Given the description of an element on the screen output the (x, y) to click on. 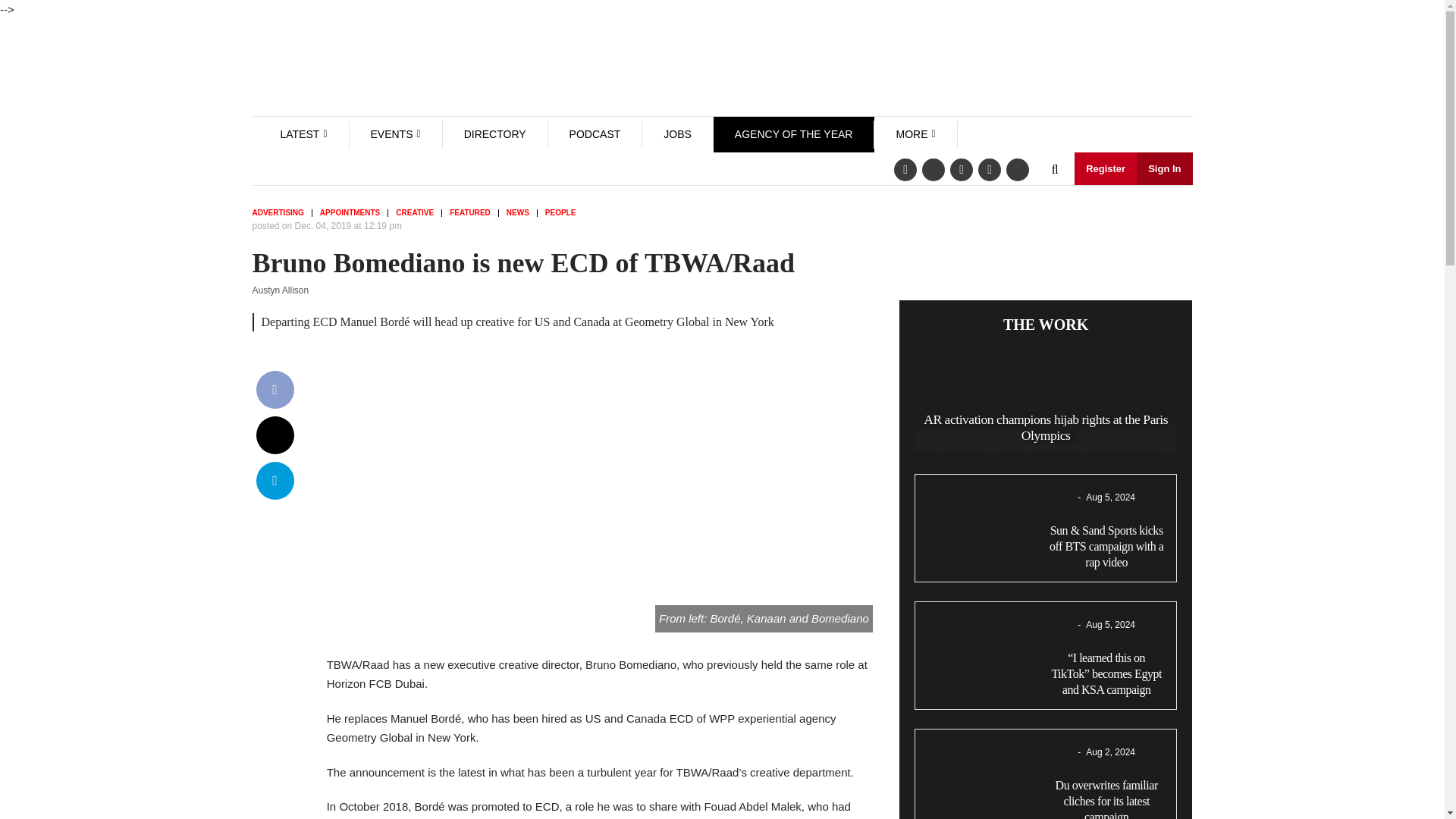
Advertising (281, 213)
Featured (474, 213)
Appointments (354, 213)
Creative (419, 213)
People (563, 213)
search (1054, 169)
News (521, 213)
LATEST (300, 134)
